Given the description of an element on the screen output the (x, y) to click on. 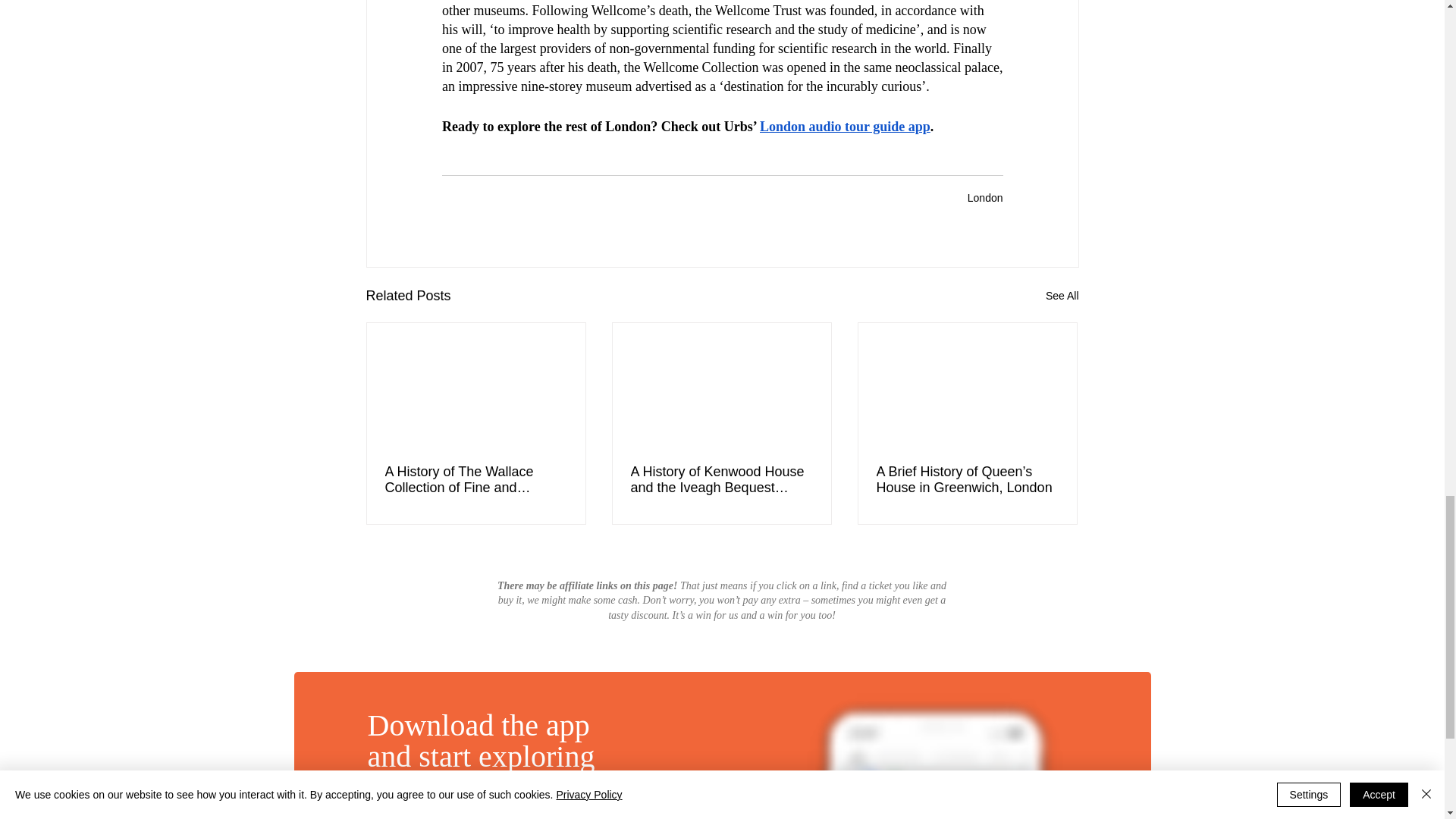
London audio tour guide app (845, 126)
London (985, 197)
See All (1061, 296)
